Given the description of an element on the screen output the (x, y) to click on. 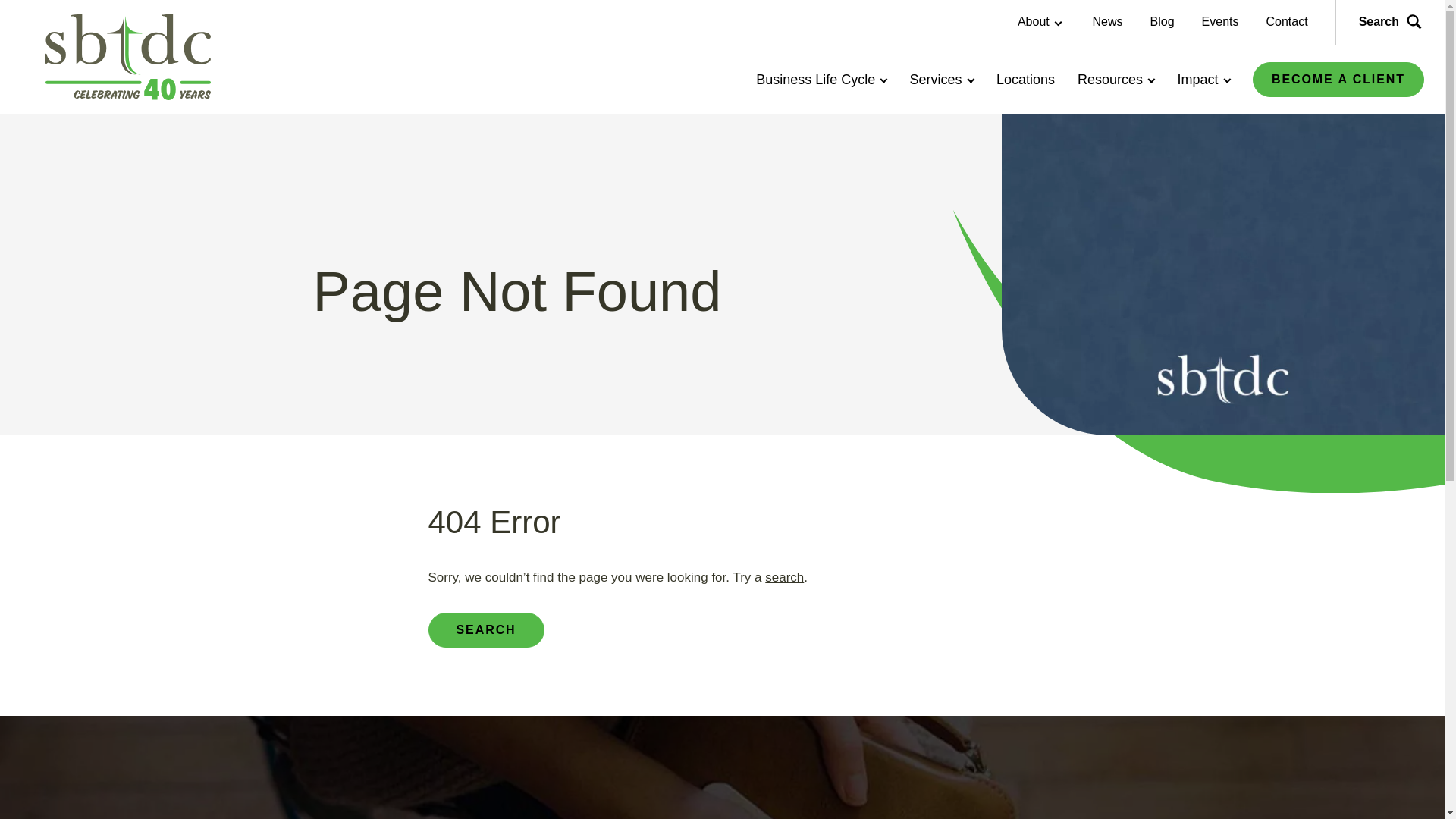
BECOME A CLIENT (1337, 79)
Services (941, 79)
About (1039, 21)
Business Life Cycle (821, 79)
Locations (1025, 79)
Impact (1203, 79)
Resources (1115, 79)
homepage (128, 56)
